Given the description of an element on the screen output the (x, y) to click on. 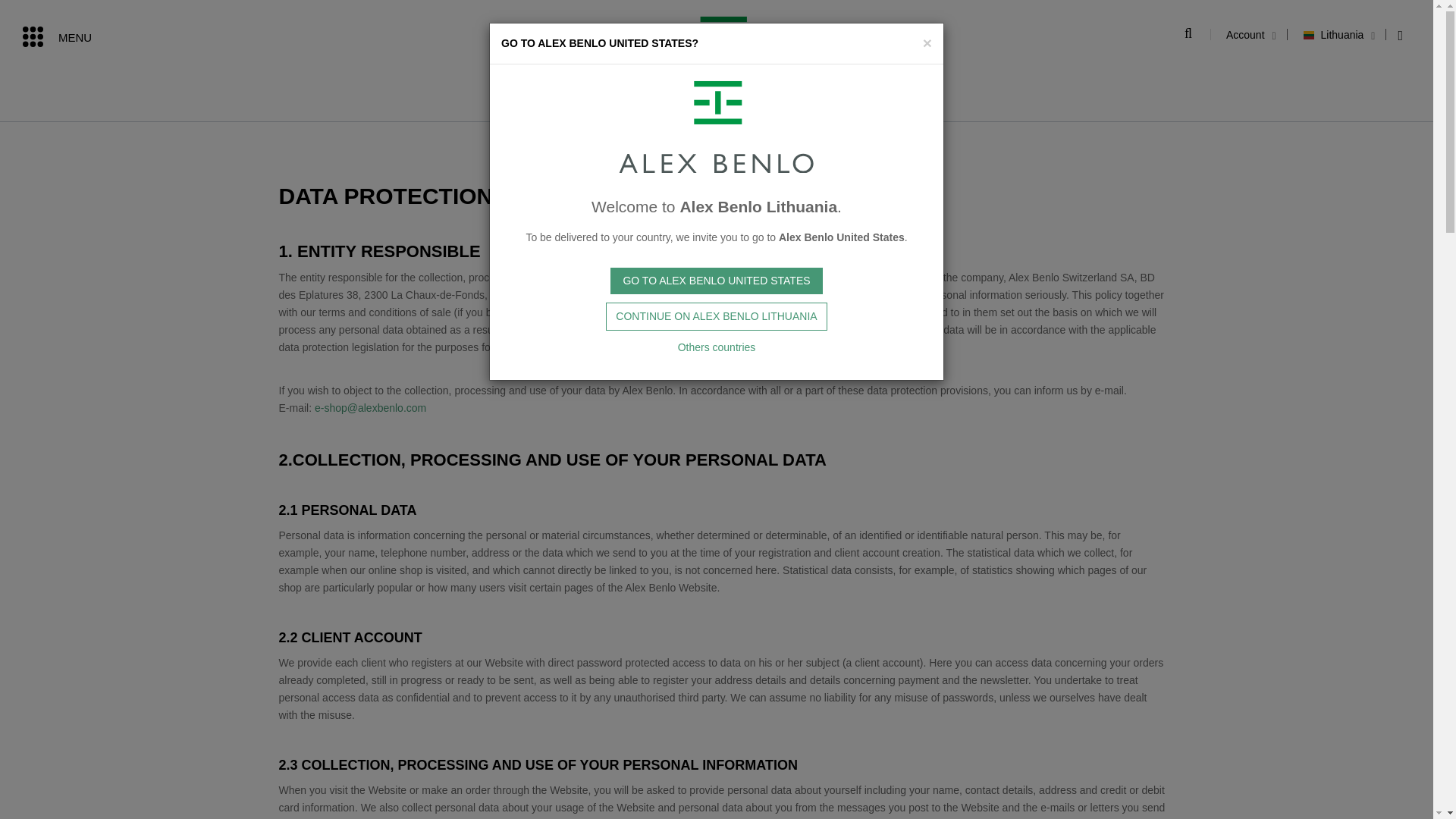
Lithuania (1333, 35)
MENU (57, 38)
